Given the description of an element on the screen output the (x, y) to click on. 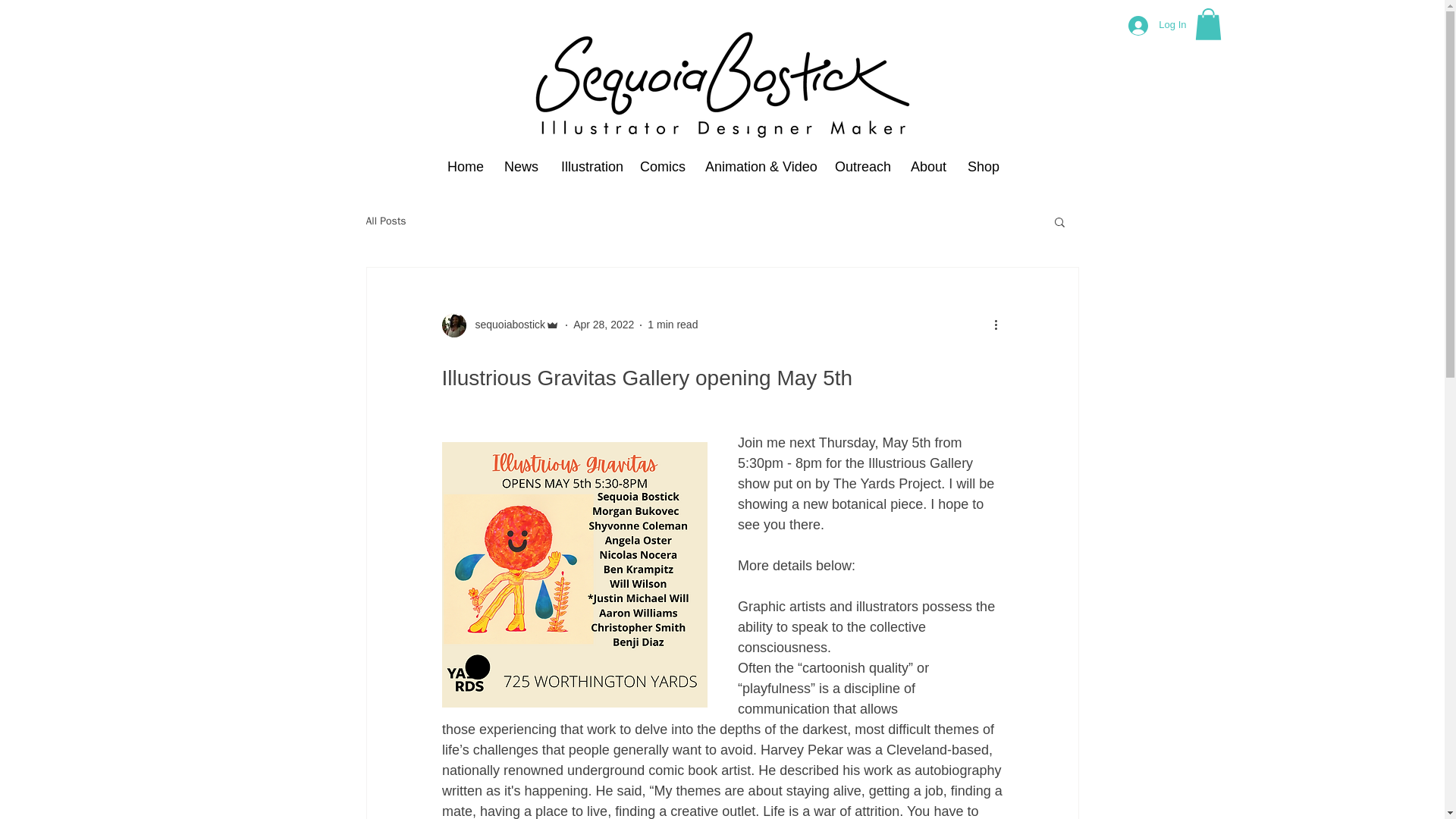
Apr 28, 2022 (603, 324)
Take me home (722, 87)
Illustration (589, 166)
1 min read (672, 324)
Home (464, 166)
Log In (1157, 24)
All Posts (385, 221)
News (521, 166)
sequoiabostick (500, 324)
Shop (982, 166)
Comics (661, 166)
Outreach (861, 166)
sequoiabostick (504, 324)
About (927, 166)
